Given the description of an element on the screen output the (x, y) to click on. 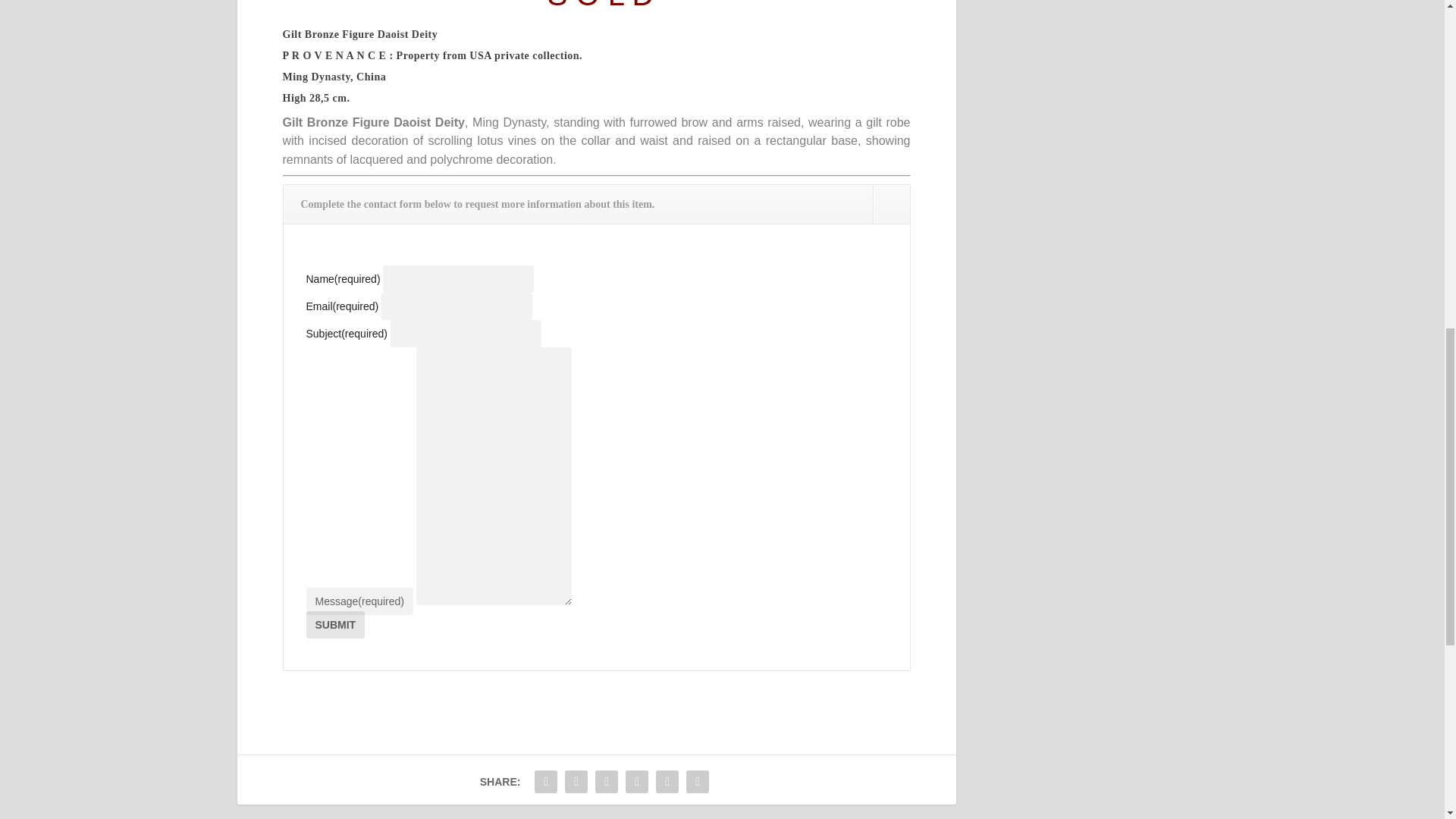
Share "Gilt Bronze Figure Daoist Deity" via LinkedIn (636, 781)
Share "Gilt Bronze Figure Daoist Deity" via Pinterest (606, 781)
Share "Gilt Bronze Figure Daoist Deity" via Email (667, 781)
Share "Gilt Bronze Figure Daoist Deity" via Facebook (545, 781)
Share "Gilt Bronze Figure Daoist Deity" via Print (697, 781)
Share "Gilt Bronze Figure Daoist Deity" via Twitter (575, 781)
SUBMIT (335, 624)
